Given the description of an element on the screen output the (x, y) to click on. 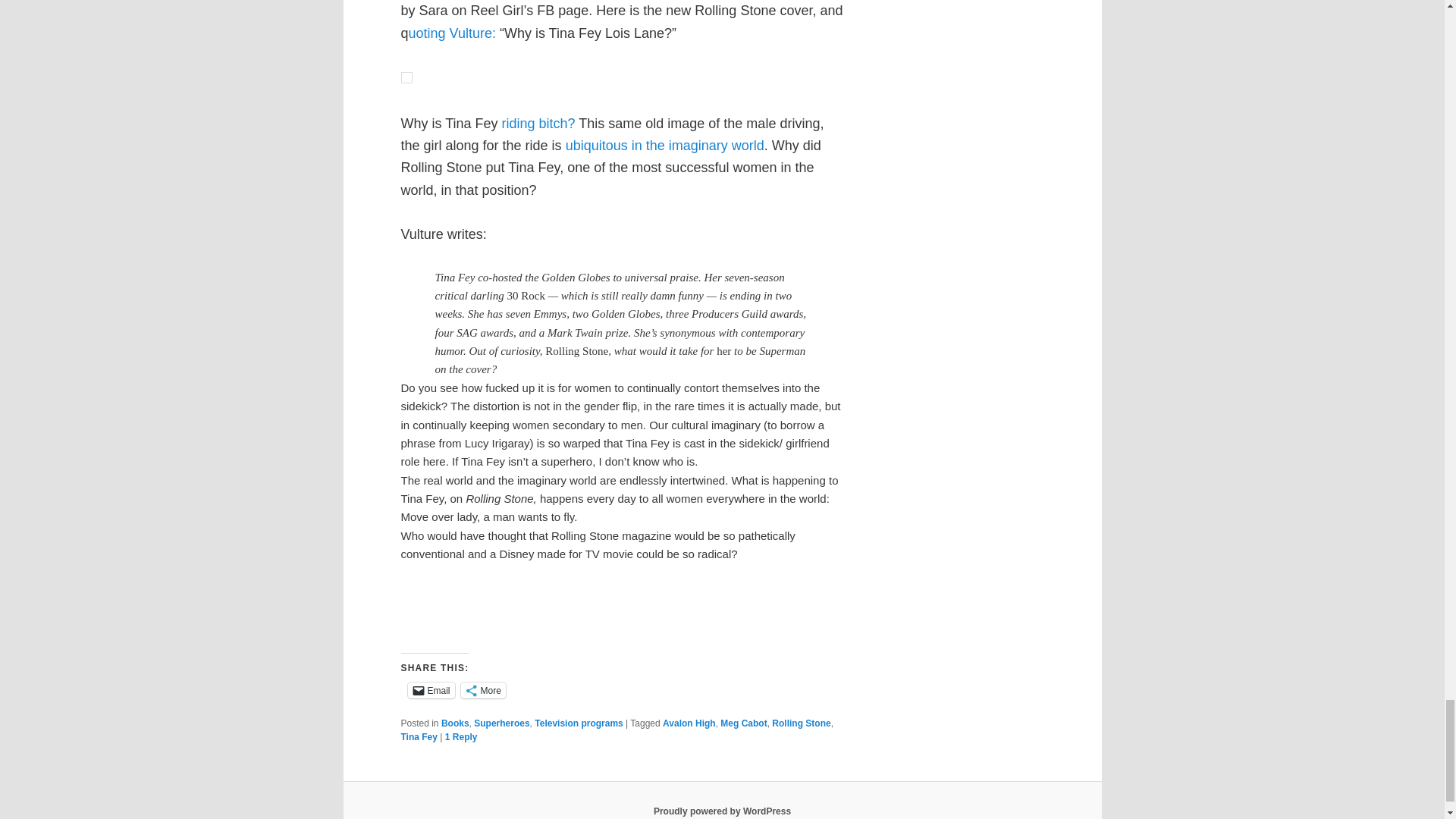
Email (430, 690)
More (483, 690)
ubiquitous in the imaginary world (665, 145)
uoting Vulture: (452, 32)
Semantic Personal Publishing Platform (721, 810)
riding bitch? (540, 123)
Books (454, 723)
Click to email a link to a friend (430, 690)
